Given the description of an element on the screen output the (x, y) to click on. 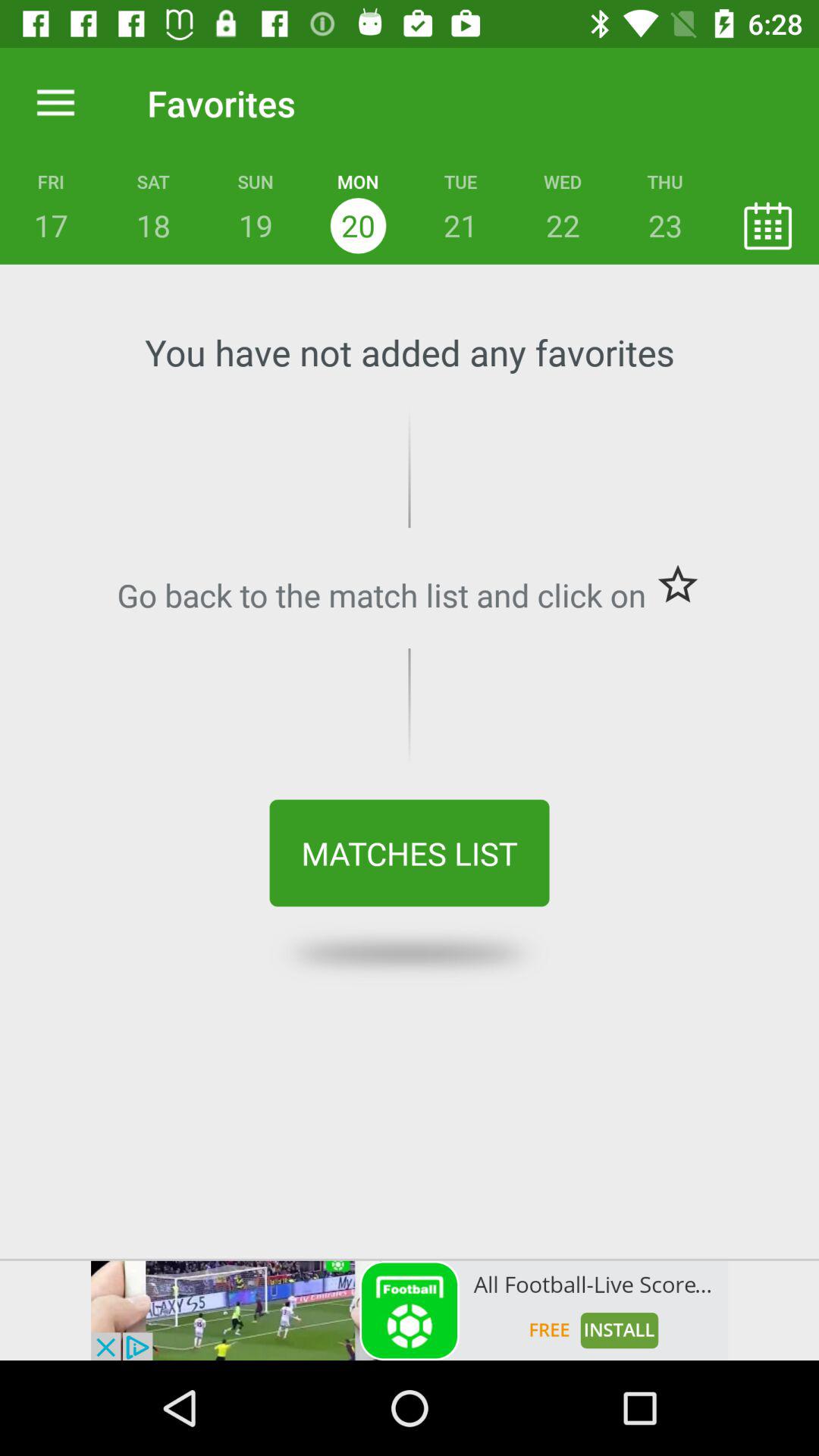
advertisement banner (409, 1310)
